Given the description of an element on the screen output the (x, y) to click on. 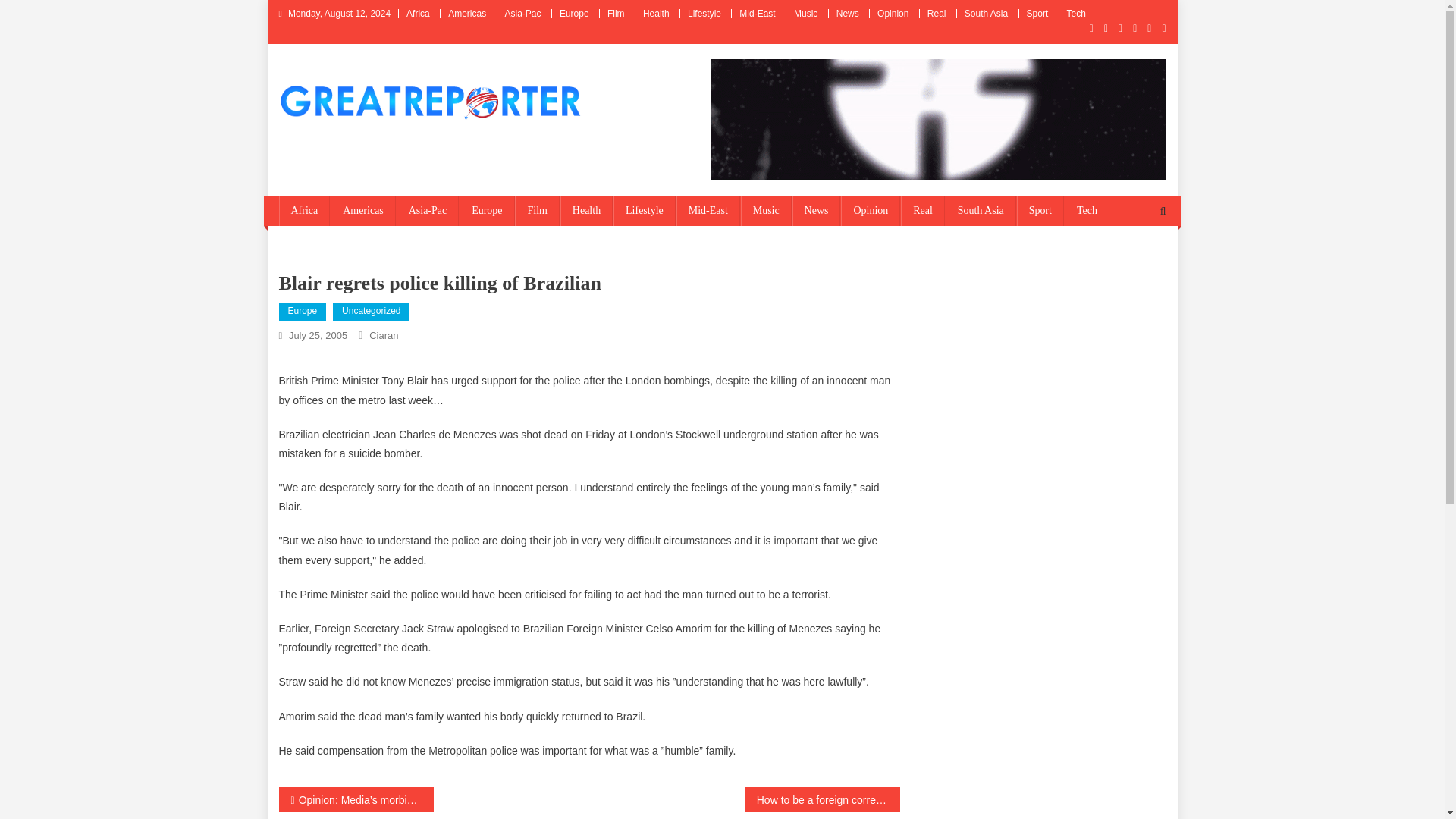
Europe (574, 13)
South Asia (985, 13)
Film (537, 210)
Real (922, 210)
Real (936, 13)
Lifestyle (703, 13)
South Asia (980, 210)
Americas (467, 13)
Africa (304, 210)
Opinion (892, 13)
